Given the description of an element on the screen output the (x, y) to click on. 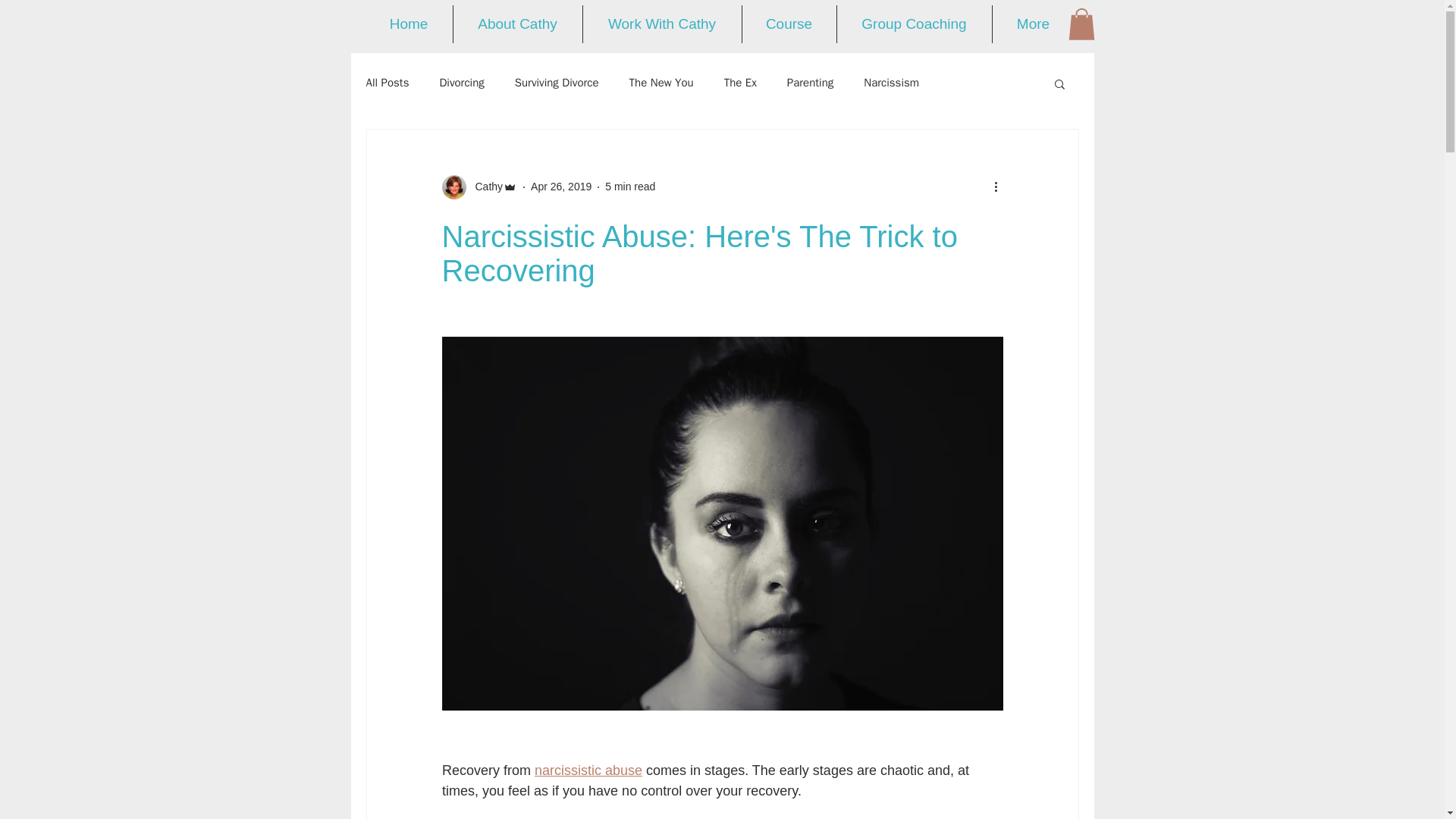
Apr 26, 2019 (561, 186)
Course (788, 23)
5 min read (630, 186)
About Cathy (517, 23)
Cathy  (483, 186)
Divorcing (461, 83)
Home (408, 23)
Cathy (478, 187)
Parenting (809, 83)
The Ex (740, 83)
